Given the description of an element on the screen output the (x, y) to click on. 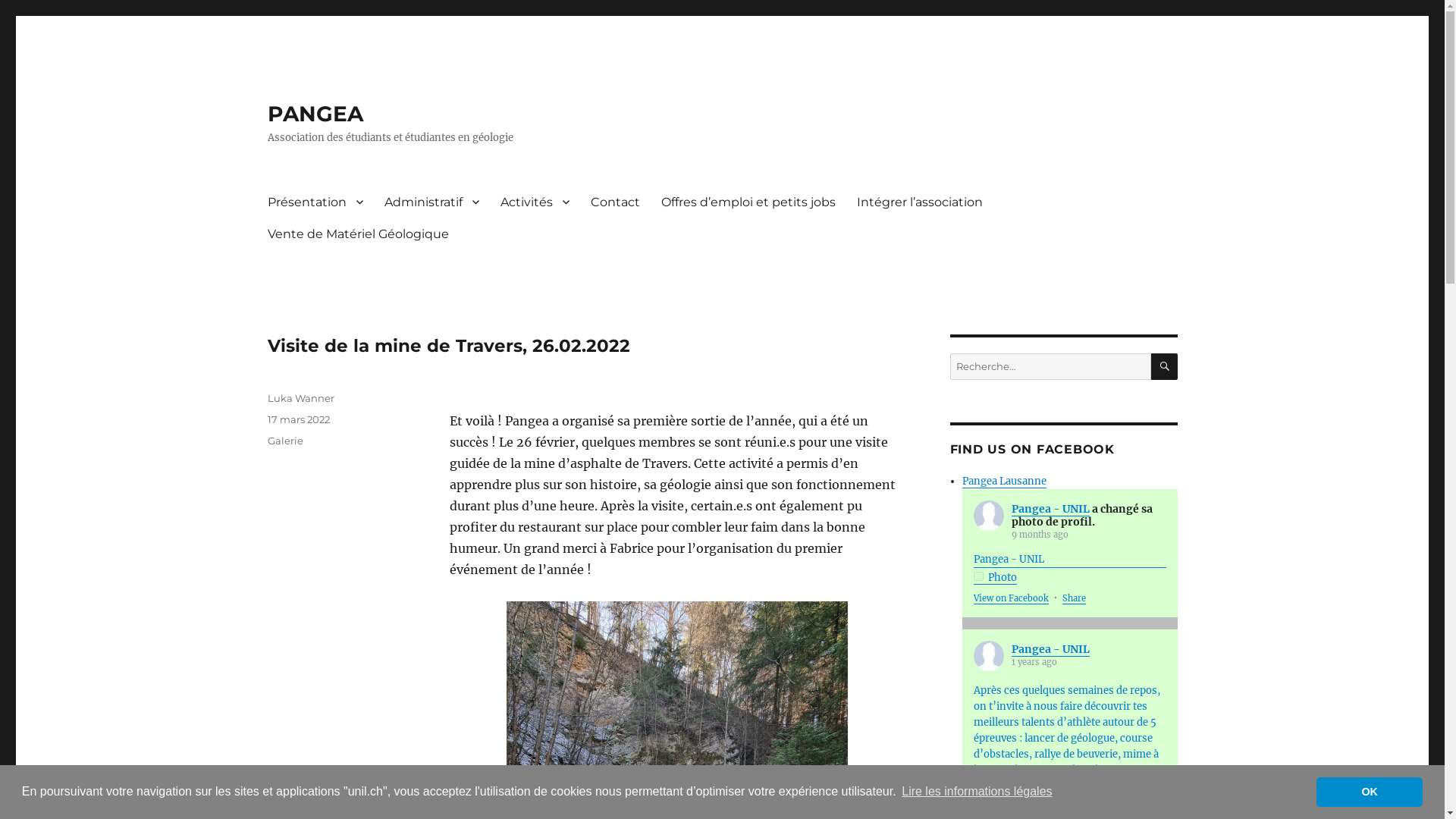
Galerie Element type: text (284, 440)
Luka Wanner Element type: text (299, 398)
17 mars 2022 Element type: text (297, 419)
Administratif Element type: text (431, 201)
Contact Element type: text (614, 201)
Pangea - UNIL Element type: text (1050, 648)
View on Facebook Element type: text (1010, 598)
Pangea - UNIL Element type: text (1069, 559)
PANGEA Element type: text (314, 113)
OK Element type: text (1369, 791)
Pangea - UNIL Element type: text (1050, 508)
Pangea Lausanne Element type: text (1004, 480)
Photo Element type: text (994, 577)
RECHERCHE Element type: text (1164, 366)
Share Element type: text (1073, 598)
